Given the description of an element on the screen output the (x, y) to click on. 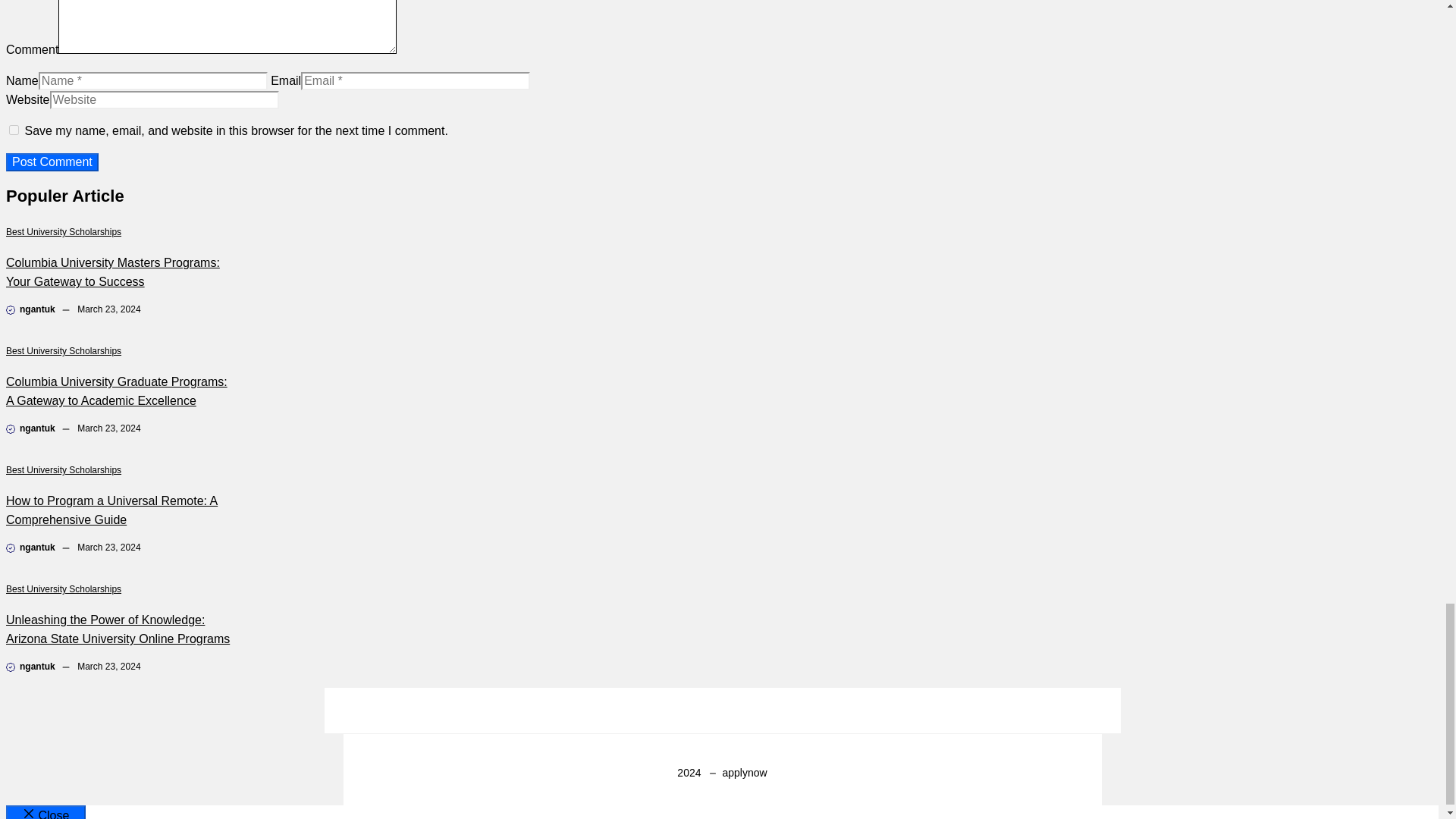
Best University Scholarships (62, 231)
Post Comment (52, 162)
yes (13, 130)
Post Comment (52, 162)
Best University Scholarships (62, 350)
